Given the description of an element on the screen output the (x, y) to click on. 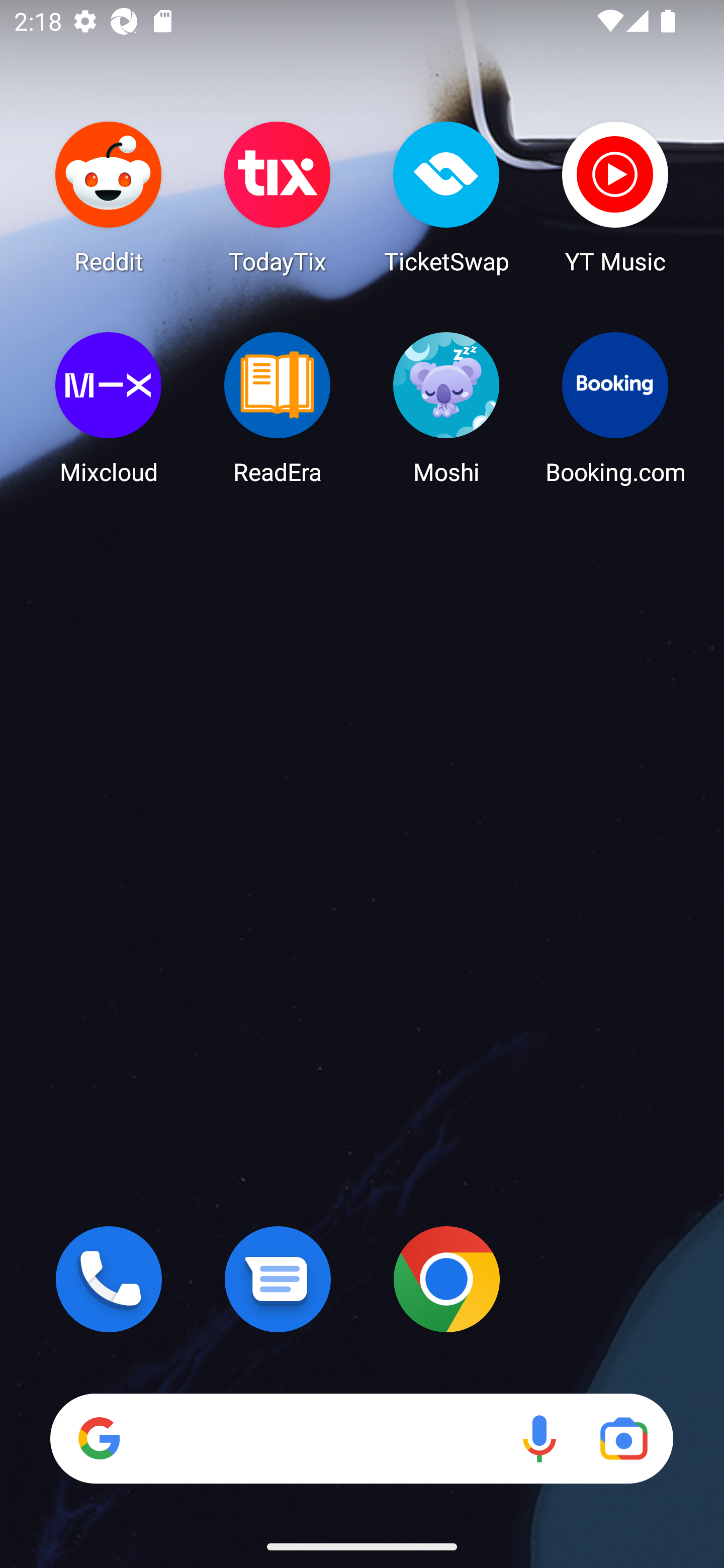
Reddit (108, 196)
TodayTix (277, 196)
TicketSwap (445, 196)
YT Music (615, 196)
Mixcloud (108, 407)
ReadEra (277, 407)
Moshi (445, 407)
Booking.com (615, 407)
Phone (108, 1279)
Messages (277, 1279)
Chrome (446, 1279)
Search Voice search Google Lens (361, 1438)
Voice search (539, 1438)
Google Lens (623, 1438)
